Given the description of an element on the screen output the (x, y) to click on. 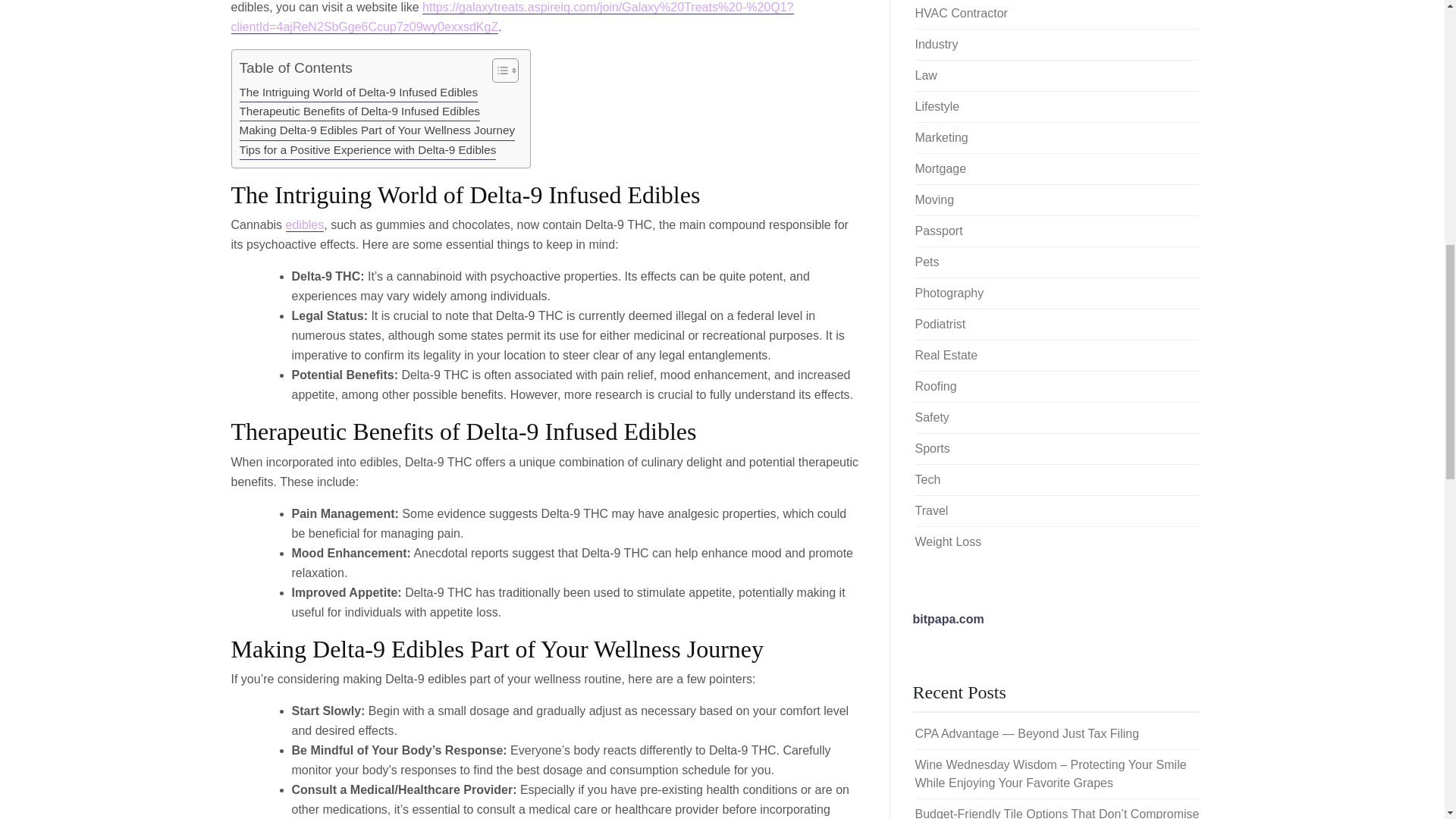
Therapeutic Benefits of Delta-9 Infused Edibles (360, 111)
Tips for a Positive Experience with Delta-9 Edibles (368, 149)
edibles (304, 224)
The Intriguing World of Delta-9 Infused Edibles (359, 92)
Making Delta-9 Edibles Part of Your Wellness Journey (377, 130)
Making Delta-9 Edibles Part of Your Wellness Journey (377, 130)
Therapeutic Benefits of Delta-9 Infused Edibles (360, 111)
The Intriguing World of Delta-9 Infused Edibles (359, 92)
Tips for a Positive Experience with Delta-9 Edibles (368, 149)
